Given the description of an element on the screen output the (x, y) to click on. 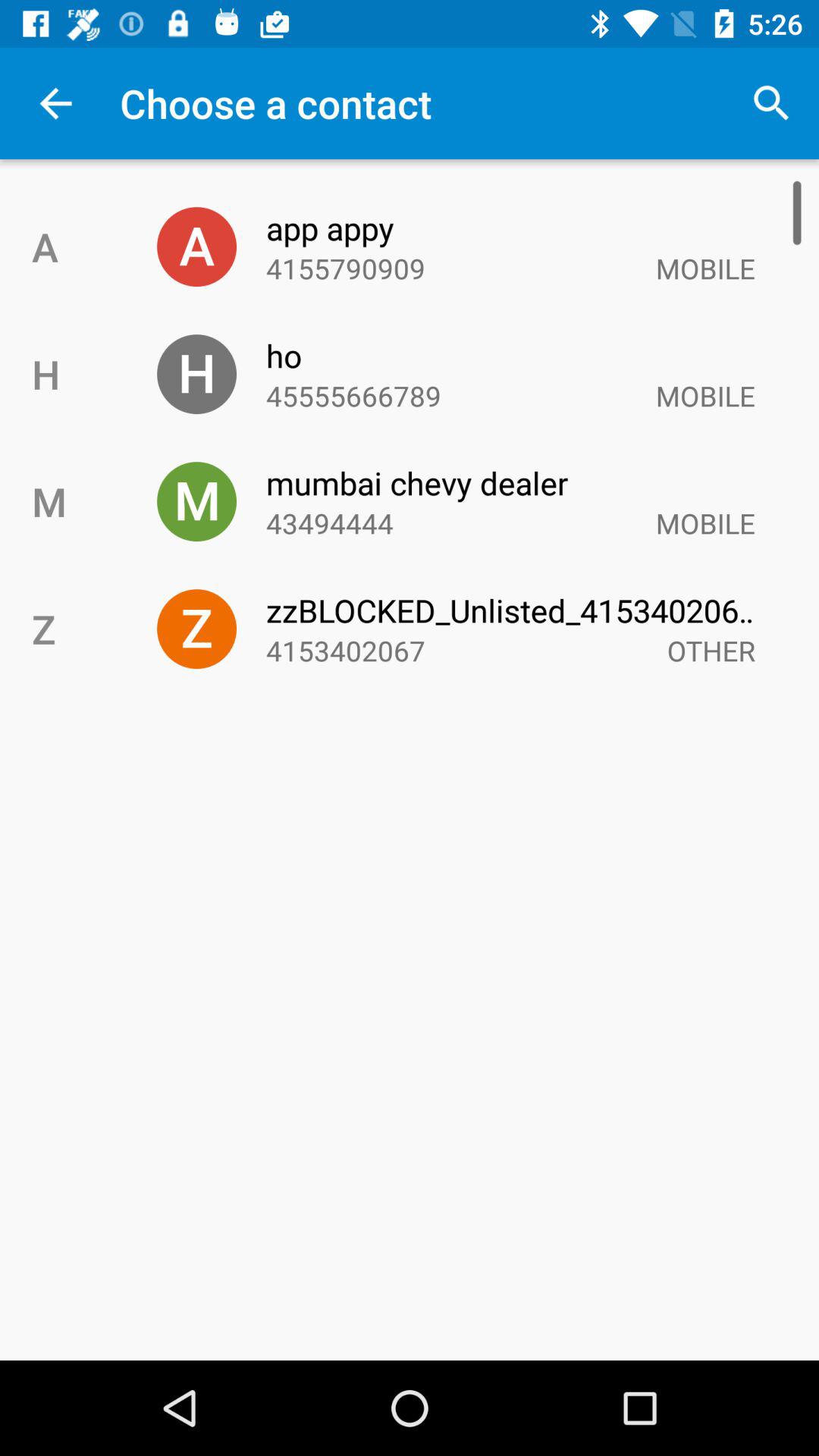
select the icon to the right of choose a contact icon (771, 103)
